Given the description of an element on the screen output the (x, y) to click on. 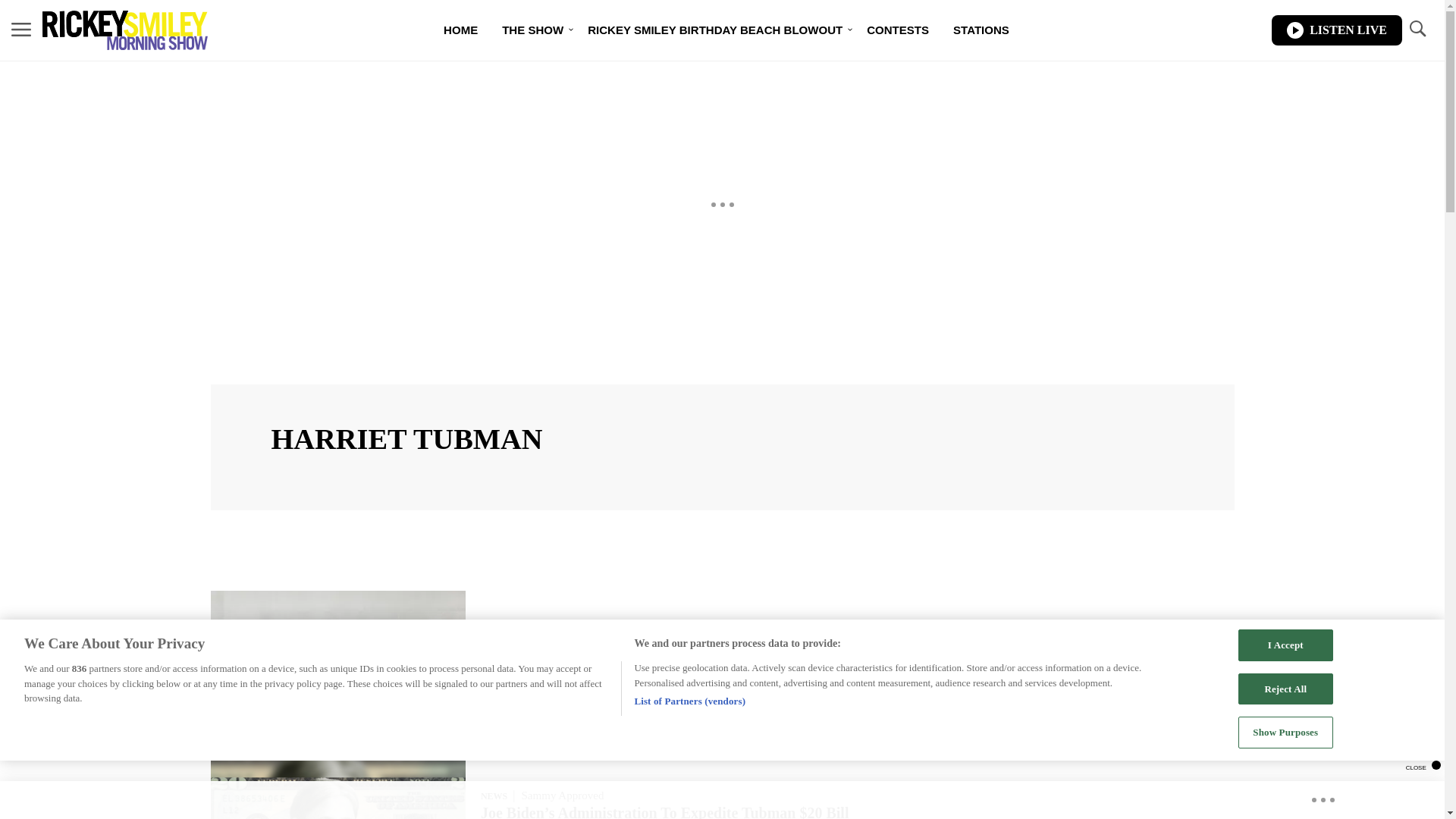
HOME (459, 30)
THE SHOW (532, 30)
CONTESTS (897, 30)
NEWS (493, 641)
STATIONS (981, 30)
LISTEN LIVE (1336, 30)
MENU (20, 30)
TOGGLE SEARCH (1417, 28)
NEWS (493, 796)
Stations (981, 30)
RICKEY SMILEY BIRTHDAY BEACH BLOWOUT (714, 30)
MENU (20, 29)
TOGGLE SEARCH (1417, 30)
Statue Honoring Trailblazer Harriet Tubman Rises In Maryland (689, 658)
